Given the description of an element on the screen output the (x, y) to click on. 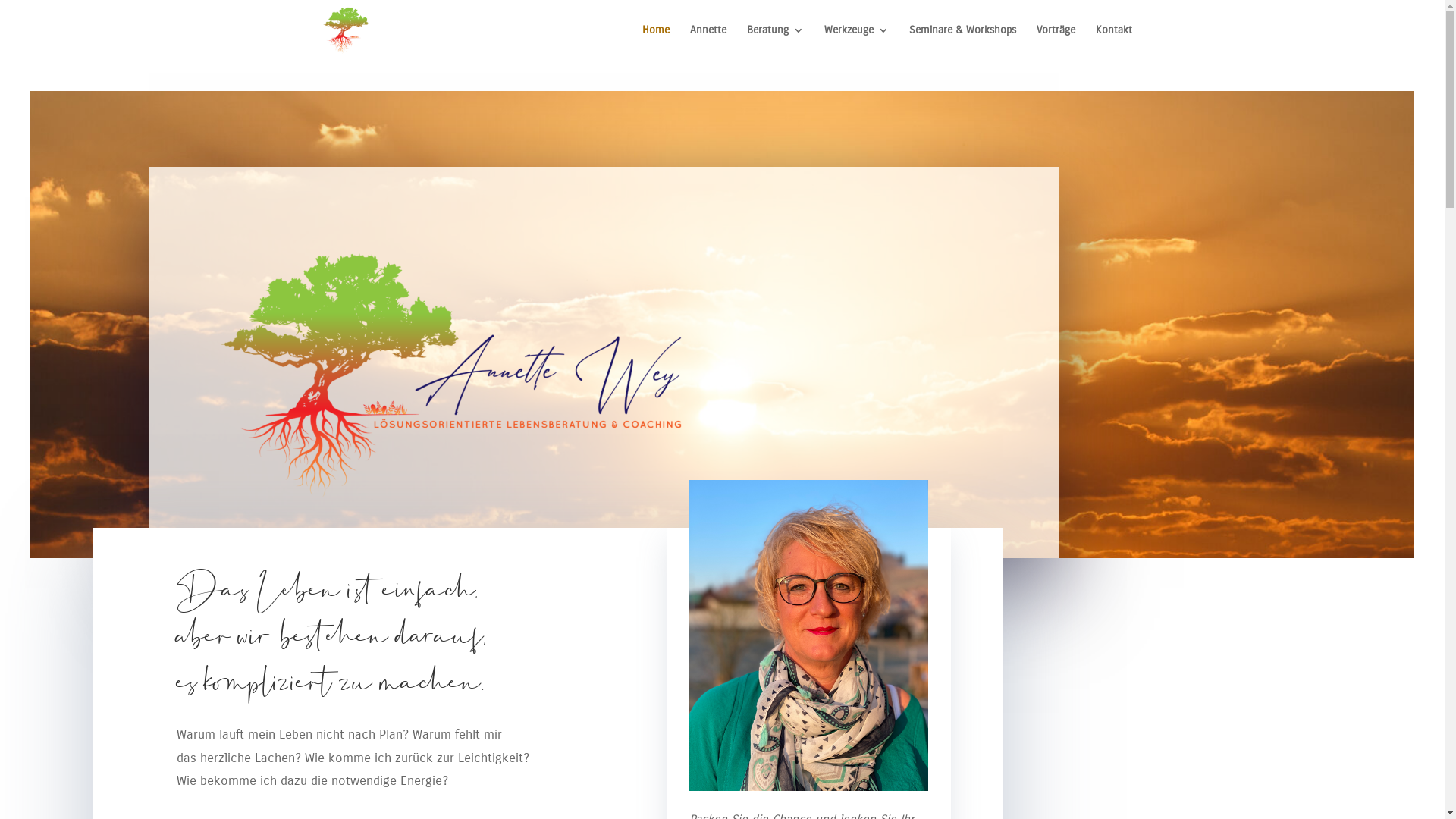
Werkzeuge Element type: text (855, 42)
Kontakt Element type: text (1113, 42)
Annette Element type: text (708, 42)
finalannet-01 Element type: hover (497, 362)
Annette-gerade Element type: hover (808, 635)
Home Element type: text (654, 42)
Beratung Element type: text (774, 42)
Seminare & Workshops Element type: text (961, 42)
